Given the description of an element on the screen output the (x, y) to click on. 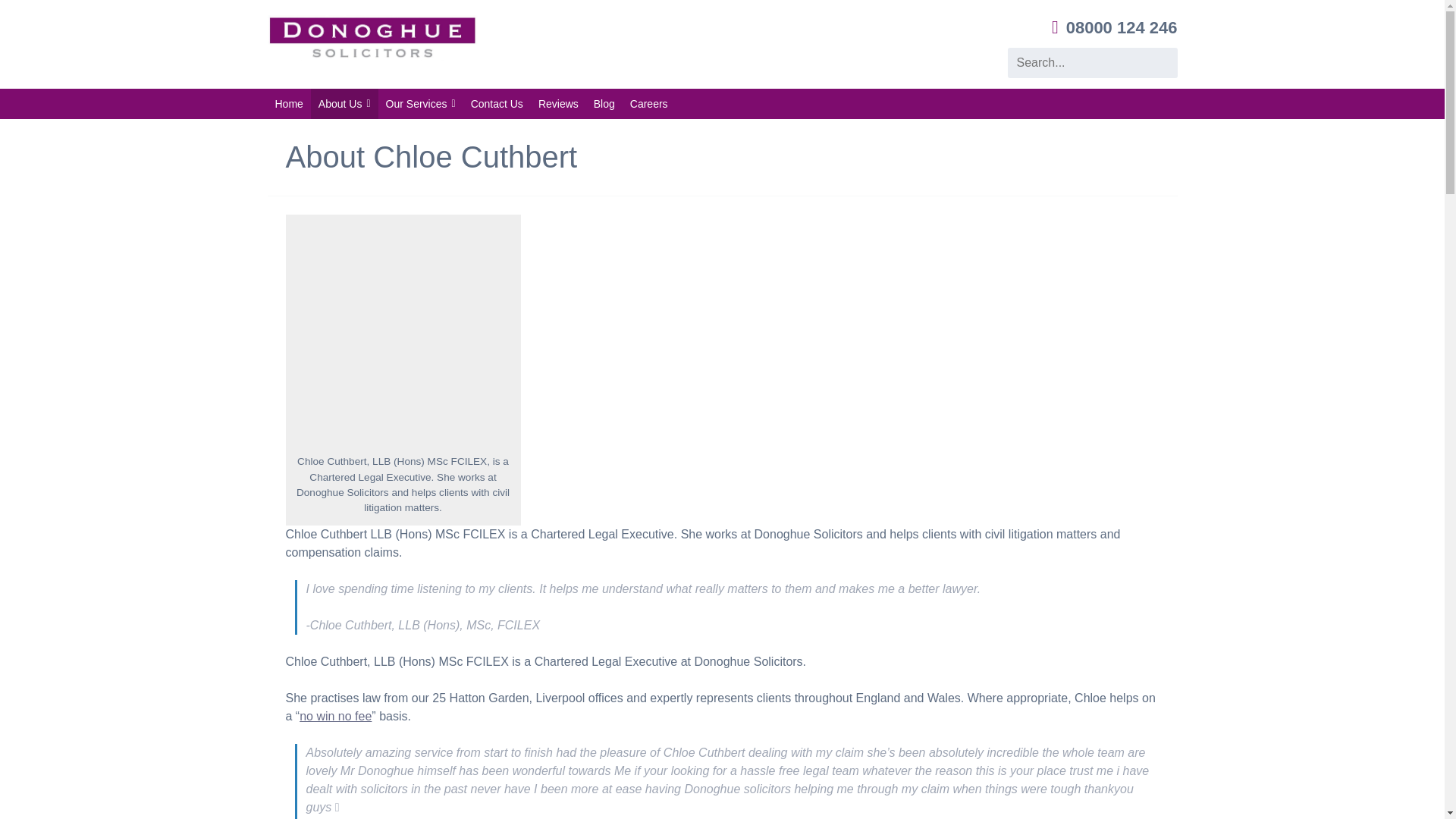
Our Services (420, 103)
Home (288, 103)
About Us (344, 103)
